Given the description of an element on the screen output the (x, y) to click on. 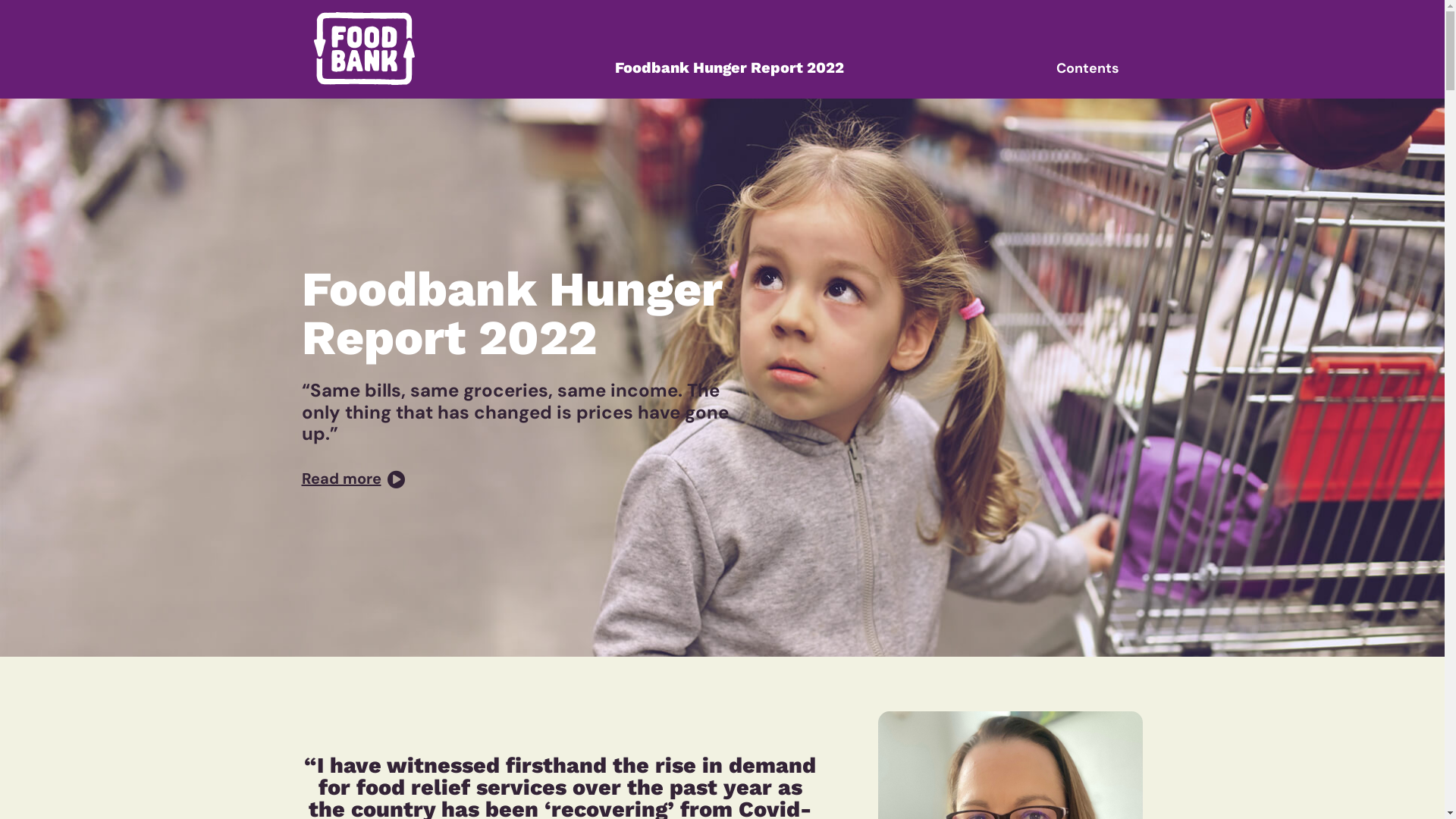
Contents Element type: text (1086, 68)
Read more Element type: text (353, 478)
